Given the description of an element on the screen output the (x, y) to click on. 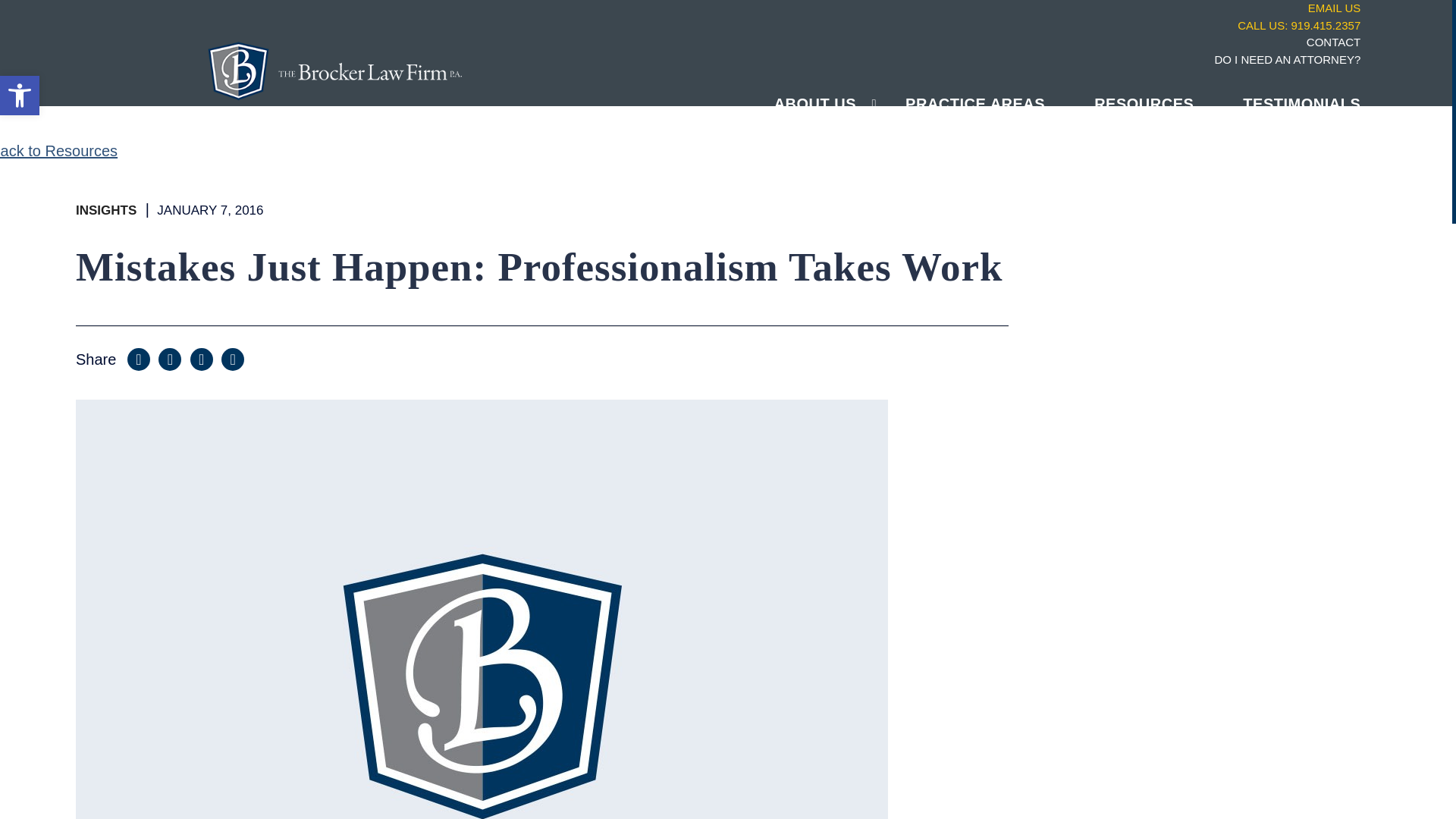
ABOUT US (815, 104)
CONTACT (921, 42)
DO I NEED AN ATTORNEY? (921, 59)
PRACTICE AREAS (975, 104)
RESOURCES (1143, 104)
Accessibility Tools (19, 95)
CALL US: 919.415.2357 (19, 95)
TESTIMONIALS (921, 25)
Accessibility Tools (1301, 104)
